Given the description of an element on the screen output the (x, y) to click on. 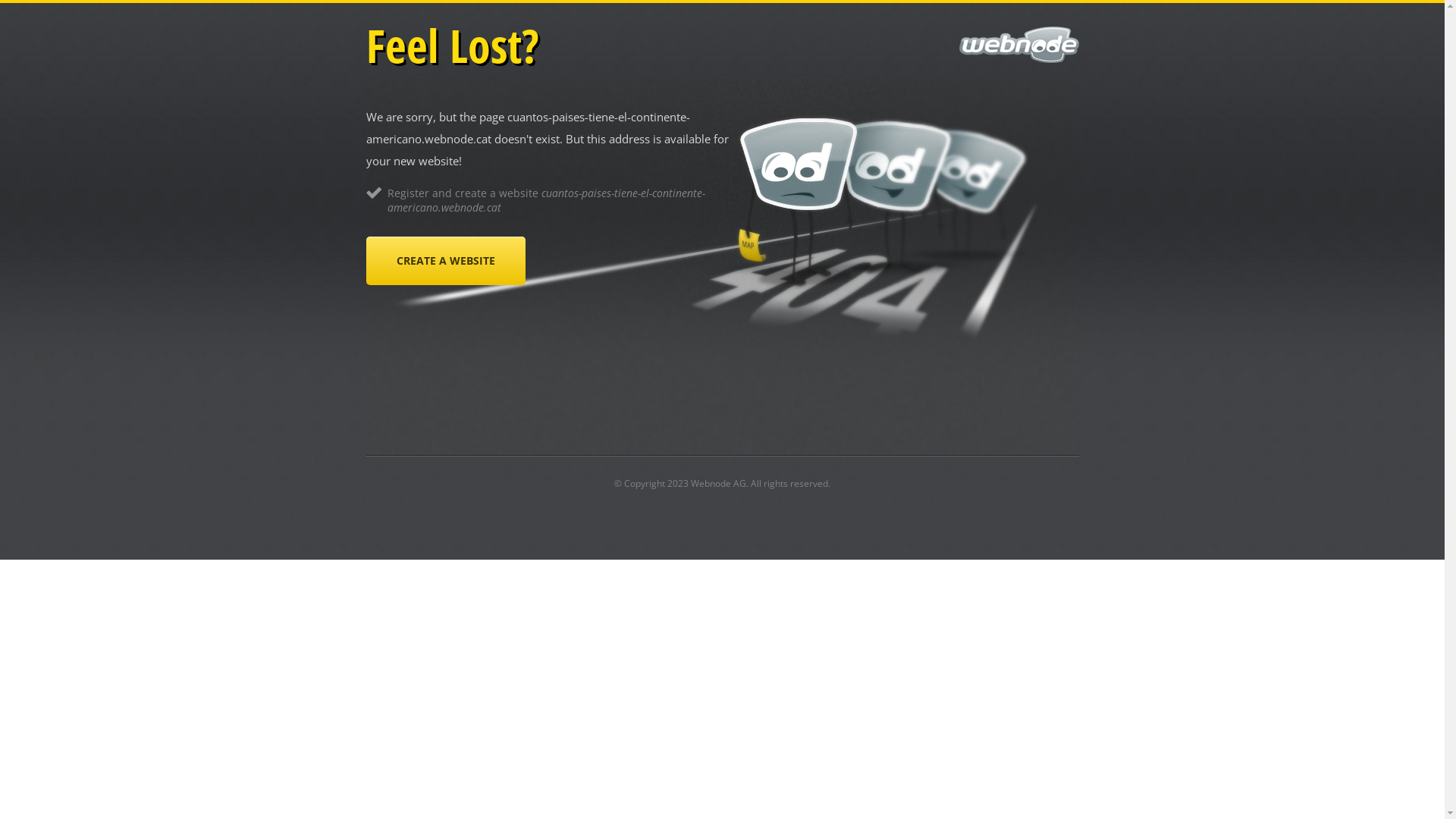
Webnode AG Element type: text (718, 482)
CREATE A WEBSITE Element type: text (444, 260)
